Given the description of an element on the screen output the (x, y) to click on. 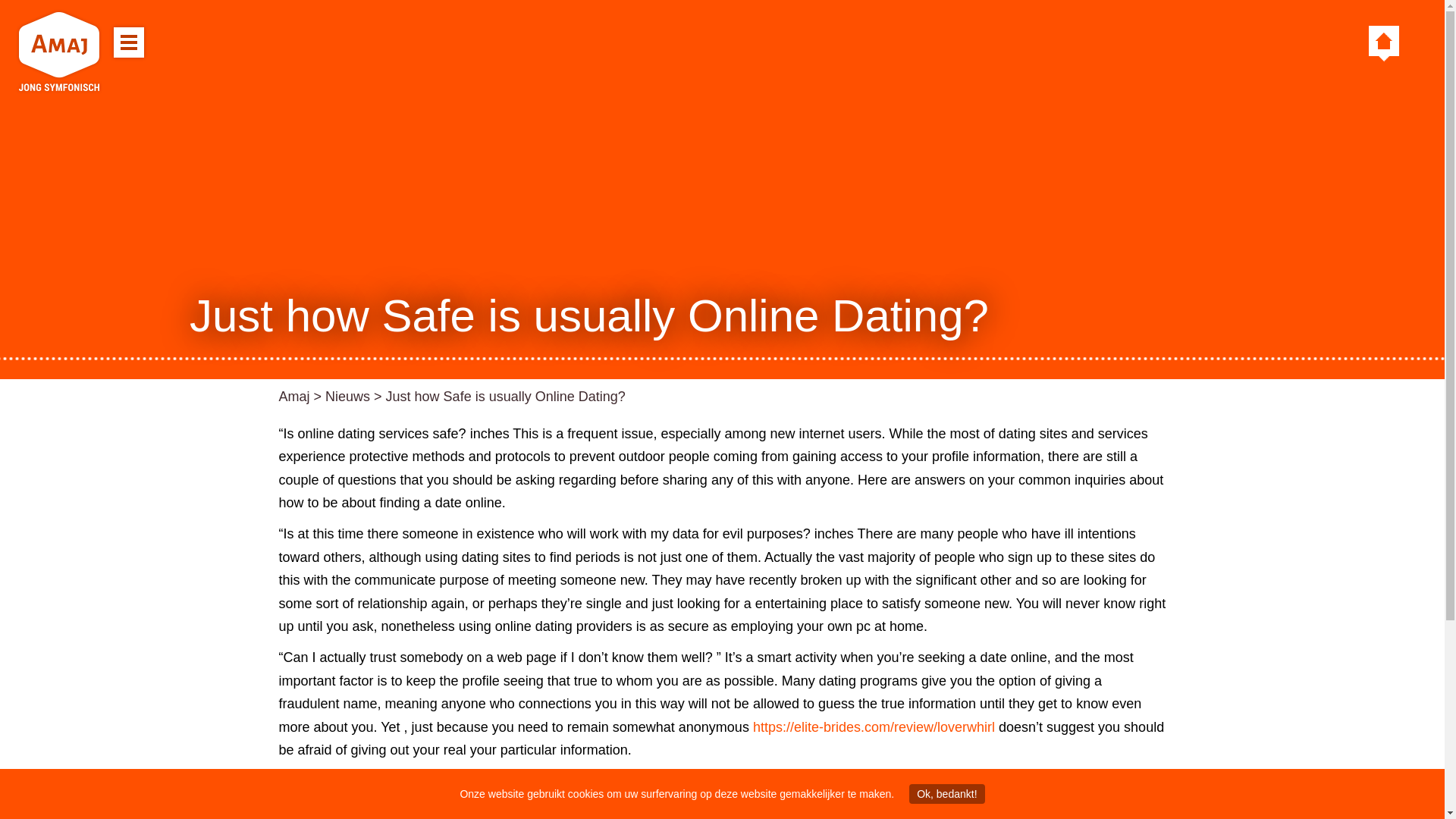
Ga naar Amaj. (294, 396)
Ok, bedankt! (946, 793)
Menu (128, 42)
Nieuws (346, 396)
Ga naar de Nieuws categorie archieven. (346, 396)
Amaj (294, 396)
